Given the description of an element on the screen output the (x, y) to click on. 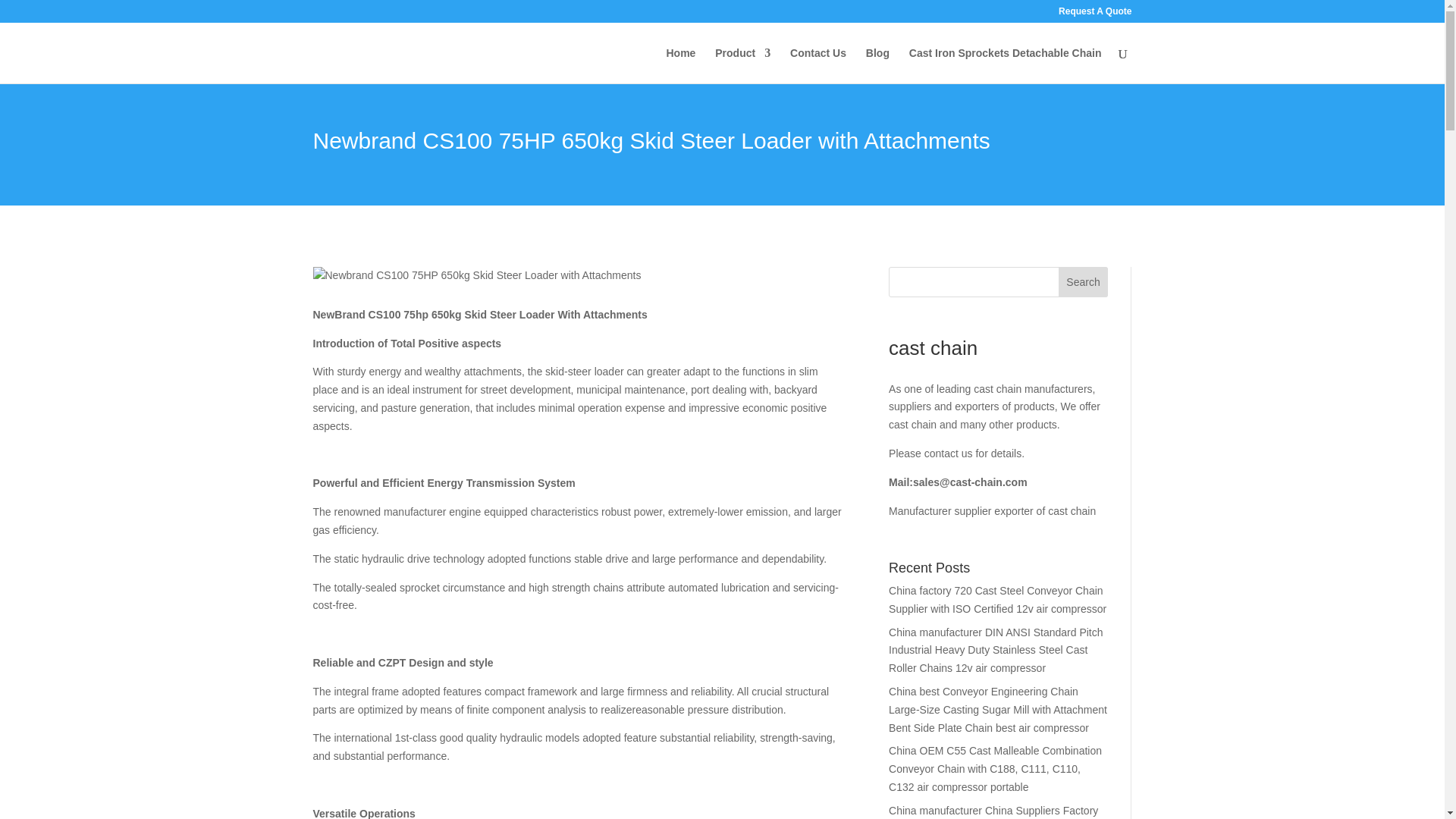
Request A Quote (1094, 14)
Product (742, 65)
Search (1083, 281)
Cast Iron Sprockets Detachable Chain (1005, 65)
Contact Us (817, 65)
Newbrand CS100 75HP 650kg Skid Steer Loader with Attachments (476, 275)
Search (1083, 281)
